Given the description of an element on the screen output the (x, y) to click on. 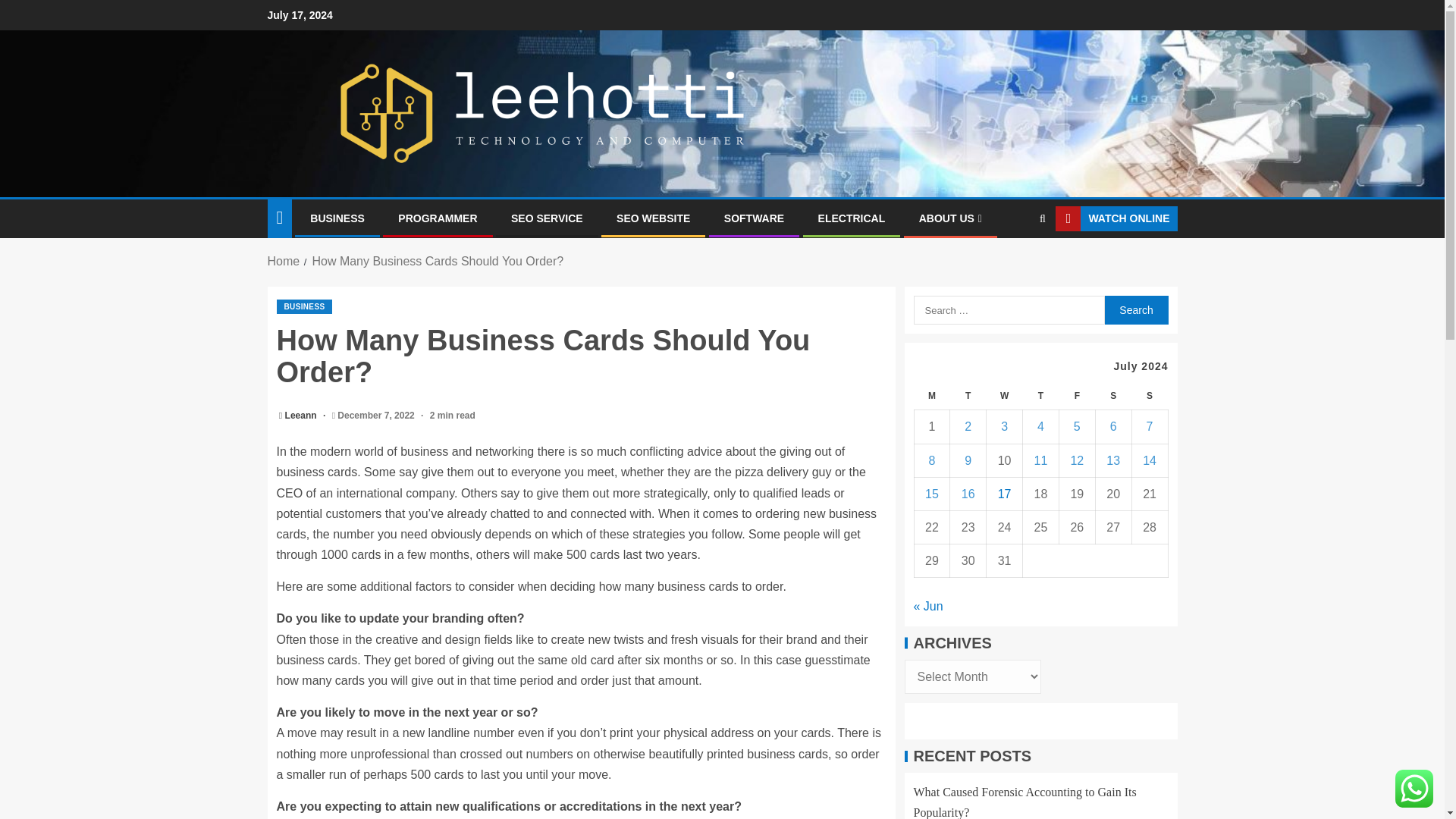
Leeann (301, 415)
Search (1013, 265)
SOFTWARE (753, 218)
Monday (932, 396)
Thursday (1041, 396)
PROGRAMMER (437, 218)
Saturday (1112, 396)
How Many Business Cards Should You Order? (437, 260)
WATCH ONLINE (1115, 218)
Search (1135, 309)
BUSINESS (303, 306)
SEO WEBSITE (652, 218)
Search (1135, 309)
Friday (1076, 396)
Wednesday (1005, 396)
